Given the description of an element on the screen output the (x, y) to click on. 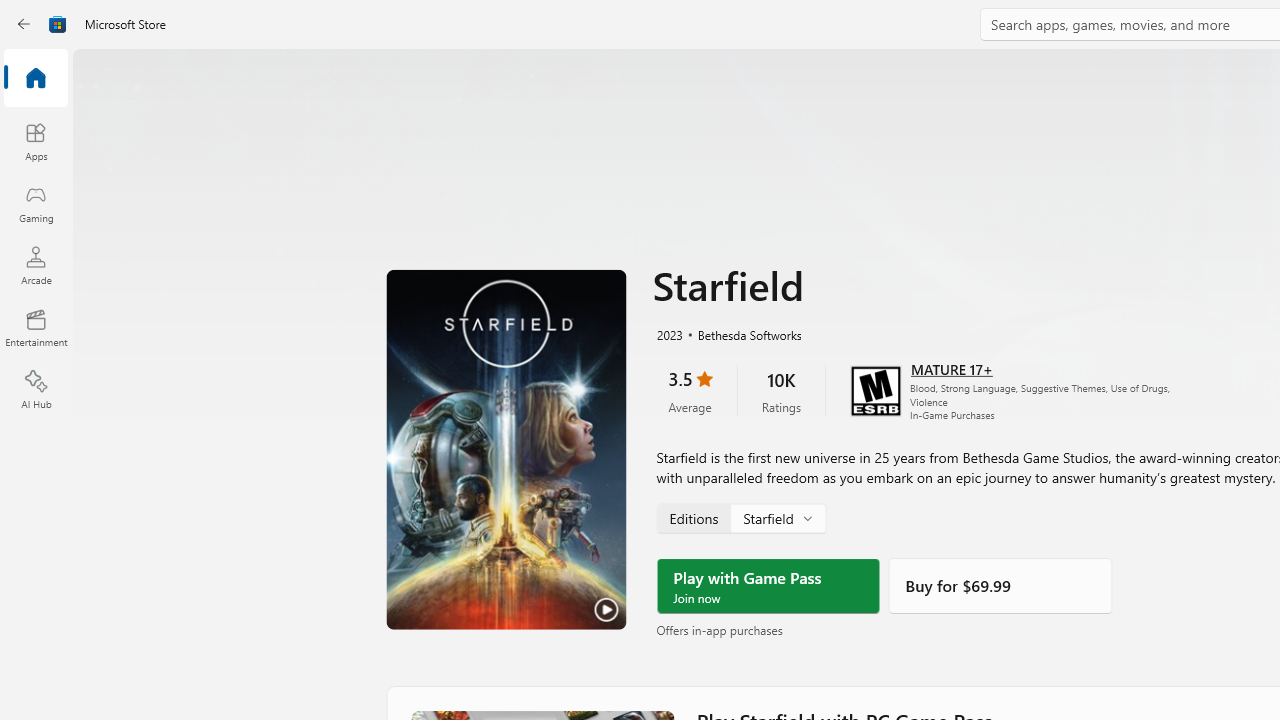
Bethesda Softworks (741, 333)
Starfield, Edition selector (740, 517)
Back (24, 24)
Play Trailer (505, 449)
AI Hub (35, 390)
Play with Game Pass (767, 586)
Gaming (35, 203)
2023 (667, 333)
Buy (1000, 586)
3.5 stars. Click to skip to ratings and reviews (689, 389)
Arcade (35, 265)
Home (35, 79)
